Given the description of an element on the screen output the (x, y) to click on. 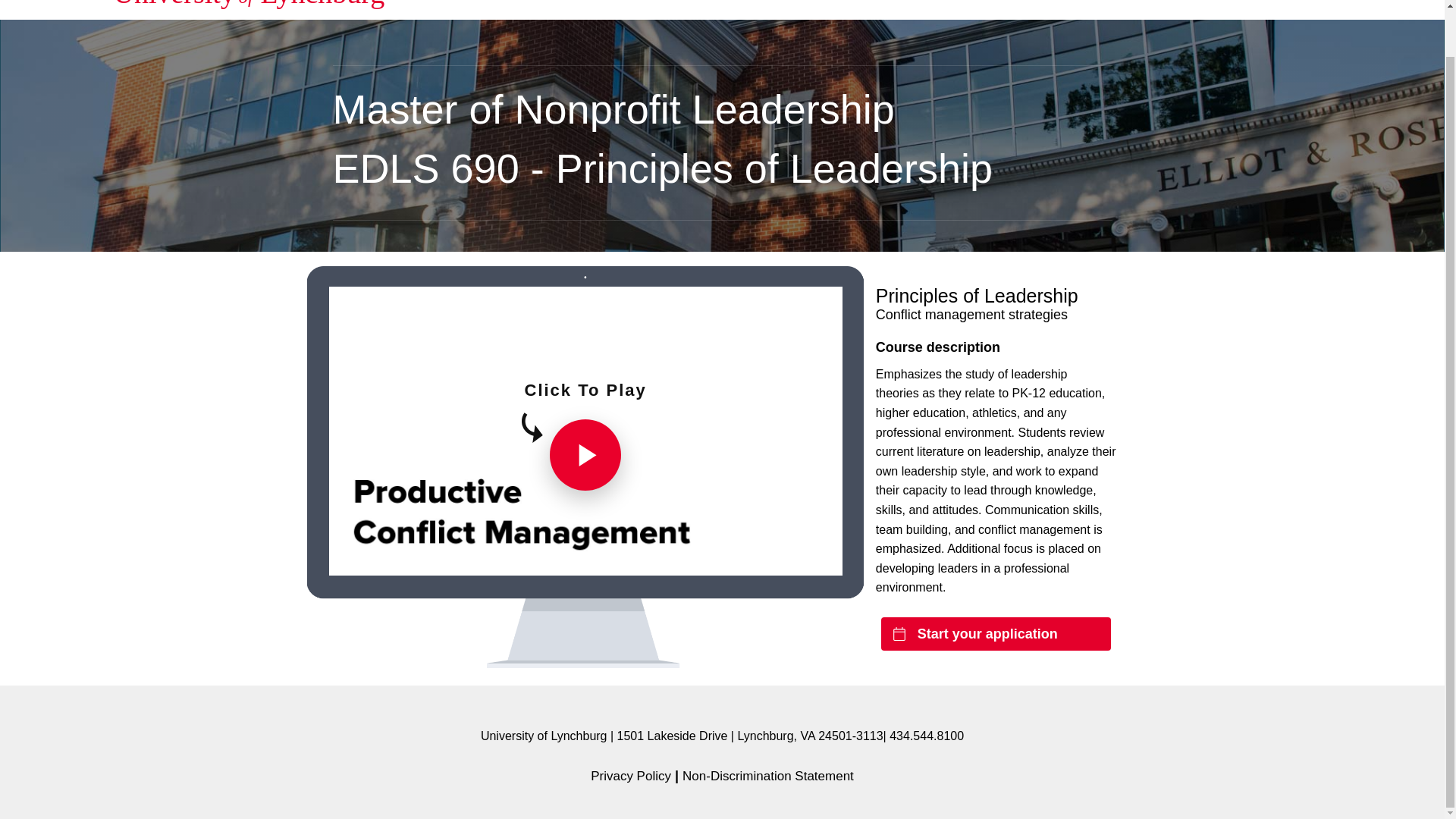
Non-Discrimination Statement (767, 775)
Privacy Policy (631, 775)
Start your application (995, 633)
University of Lynchburg (249, 8)
